Given the description of an element on the screen output the (x, y) to click on. 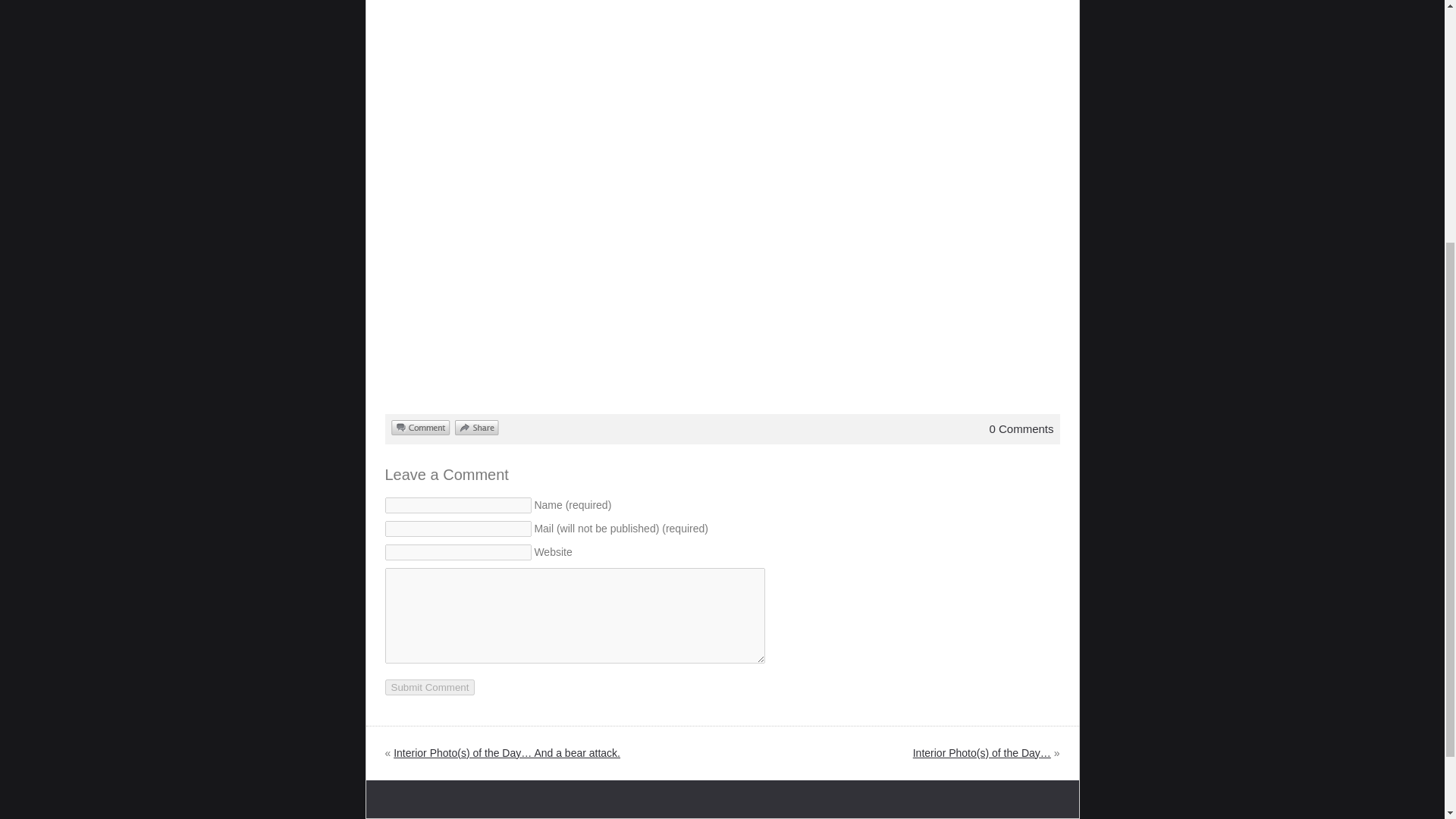
Submit Comment (430, 687)
0 Comments (1020, 428)
Submit Comment (430, 687)
